Given the description of an element on the screen output the (x, y) to click on. 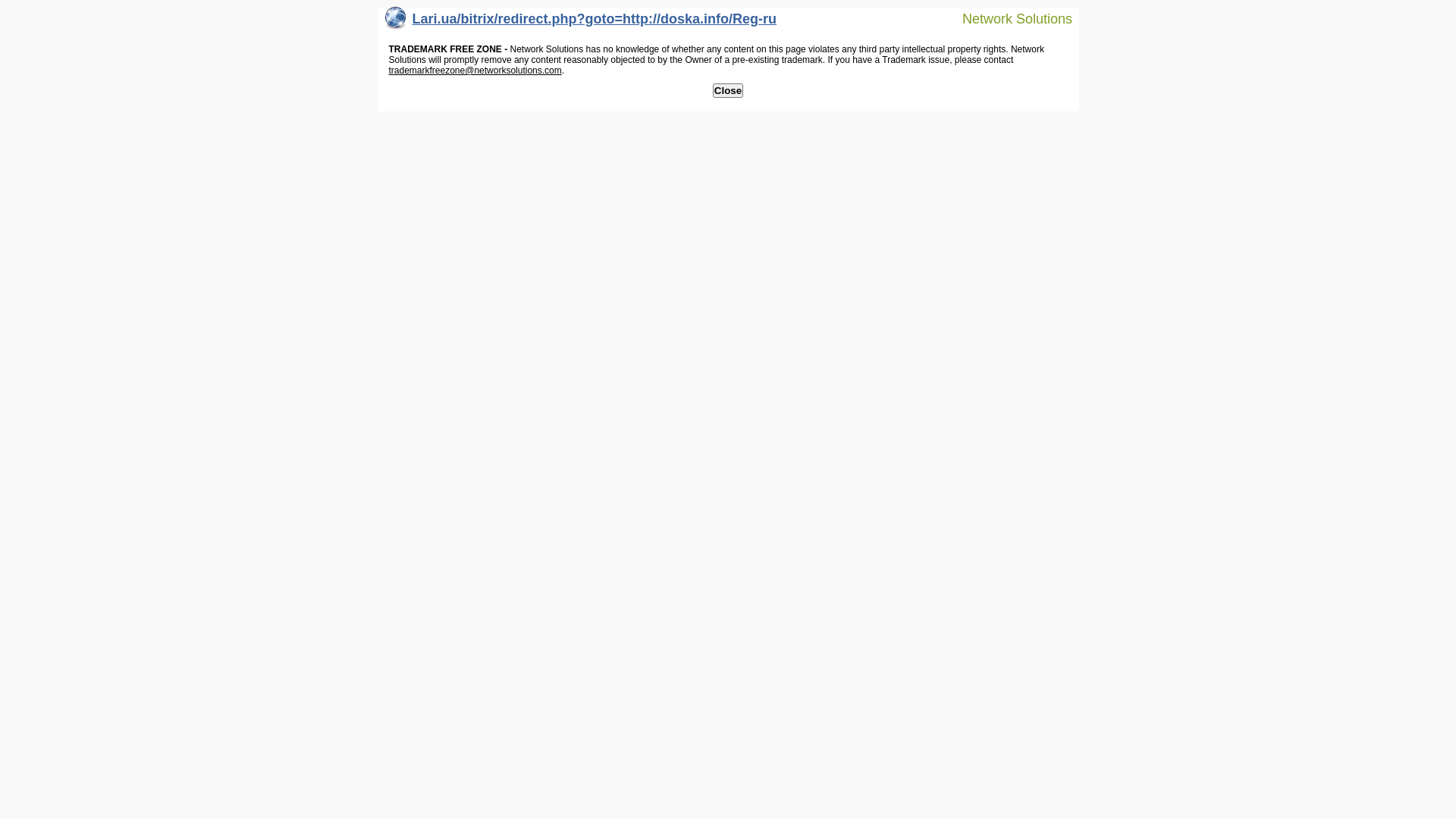
Lari.ua/bitrix/redirect.php?goto=http://doska.info/Reg-ru Element type: text (581, 21)
trademarkfreezone@networksolutions.com Element type: text (474, 70)
Close Element type: text (727, 90)
Network Solutions Element type: text (1007, 17)
